Given the description of an element on the screen output the (x, y) to click on. 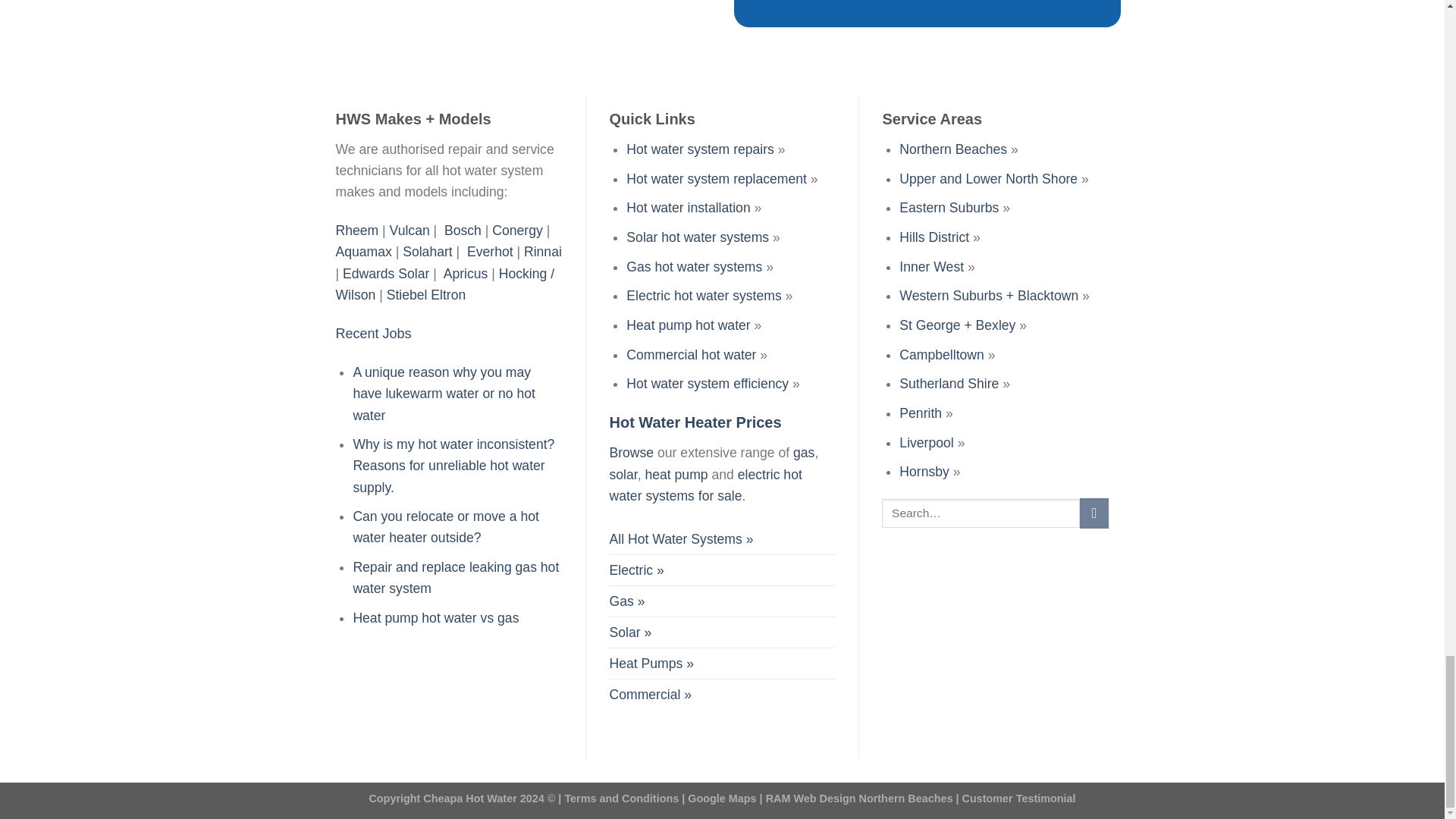
buy solar hot water system (629, 632)
buy electric hot water system (635, 570)
buy gas hot water system (626, 601)
